Given the description of an element on the screen output the (x, y) to click on. 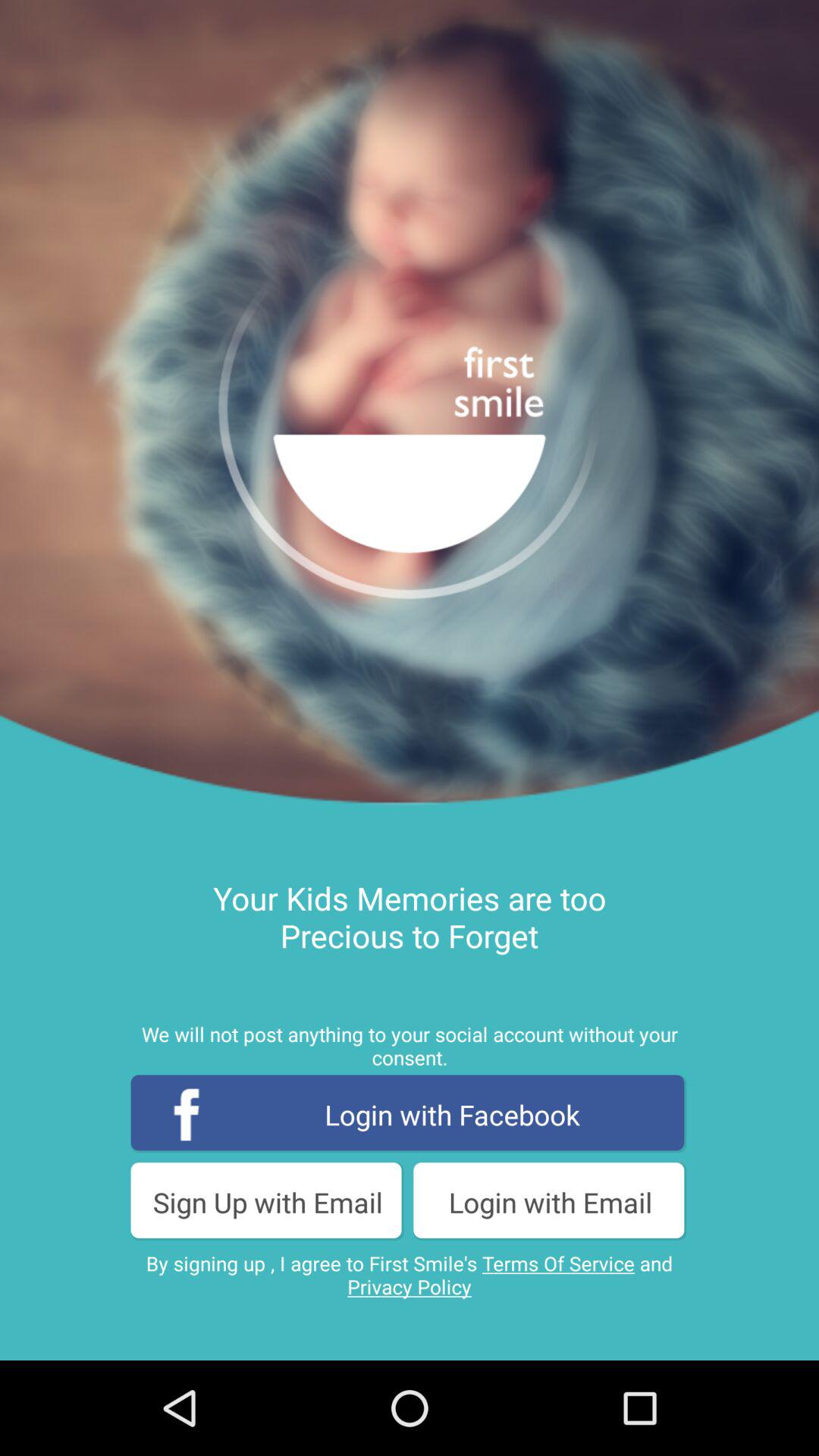
open by signing up icon (409, 1275)
